Given the description of an element on the screen output the (x, y) to click on. 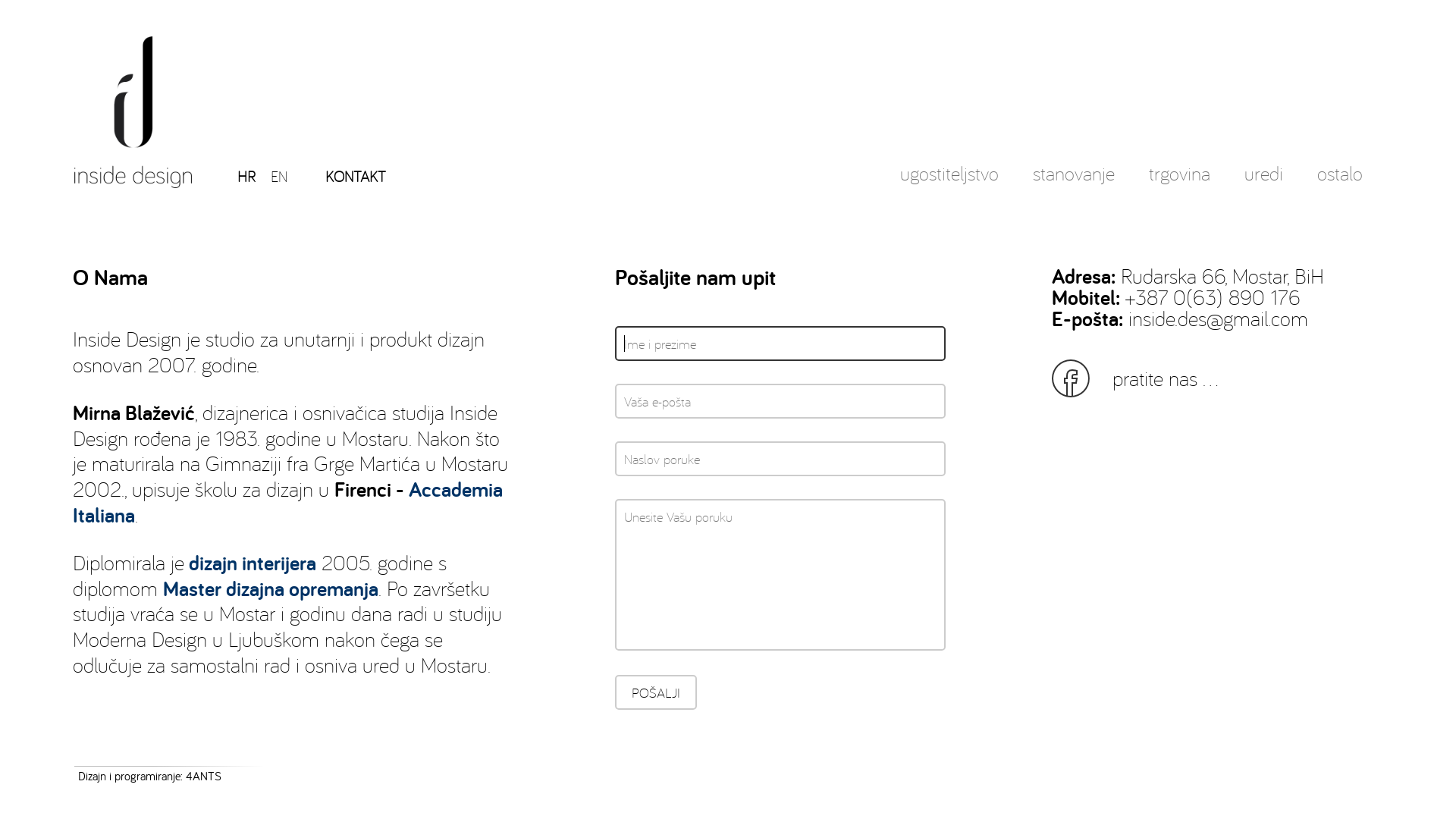
Master dizajna opremanja Element type: text (270, 588)
dizajn interijera Element type: text (252, 562)
stanovanje Element type: text (1073, 153)
4ANTS Element type: text (203, 775)
ostalo Element type: text (1339, 153)
ugostiteljstvo Element type: text (948, 153)
KONTAKT Element type: text (355, 153)
trgovina Element type: text (1179, 153)
uredi Element type: text (1263, 153)
EN Element type: text (278, 175)
HR Element type: text (246, 175)
Accademia Italiana Element type: text (287, 501)
